Given the description of an element on the screen output the (x, y) to click on. 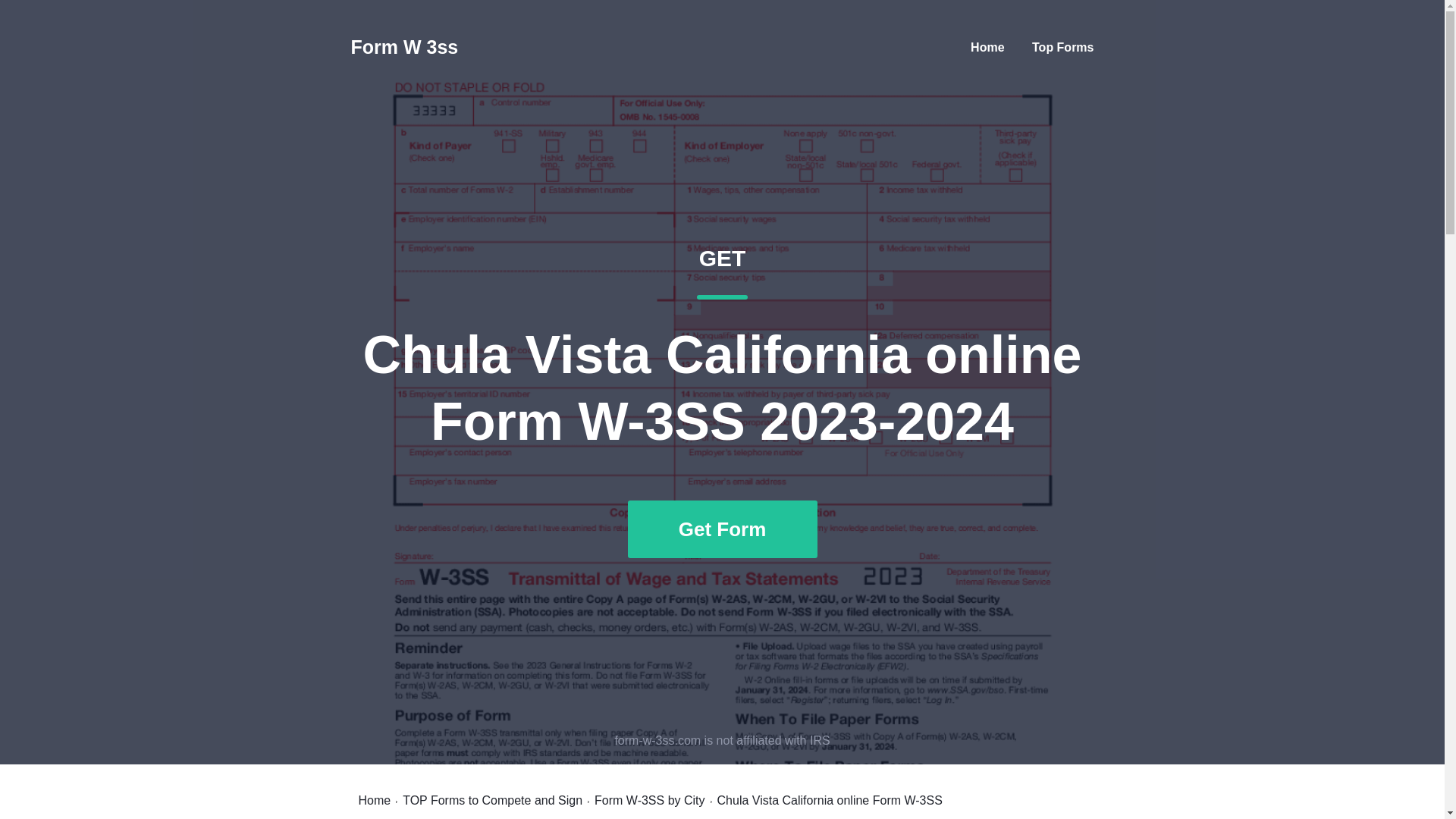
Home (374, 800)
Top Forms (1062, 47)
TOP Forms to Compete and Sign (492, 800)
Form W-3SS by City (649, 800)
Home (987, 47)
Form W 3ss (404, 46)
